Given the description of an element on the screen output the (x, y) to click on. 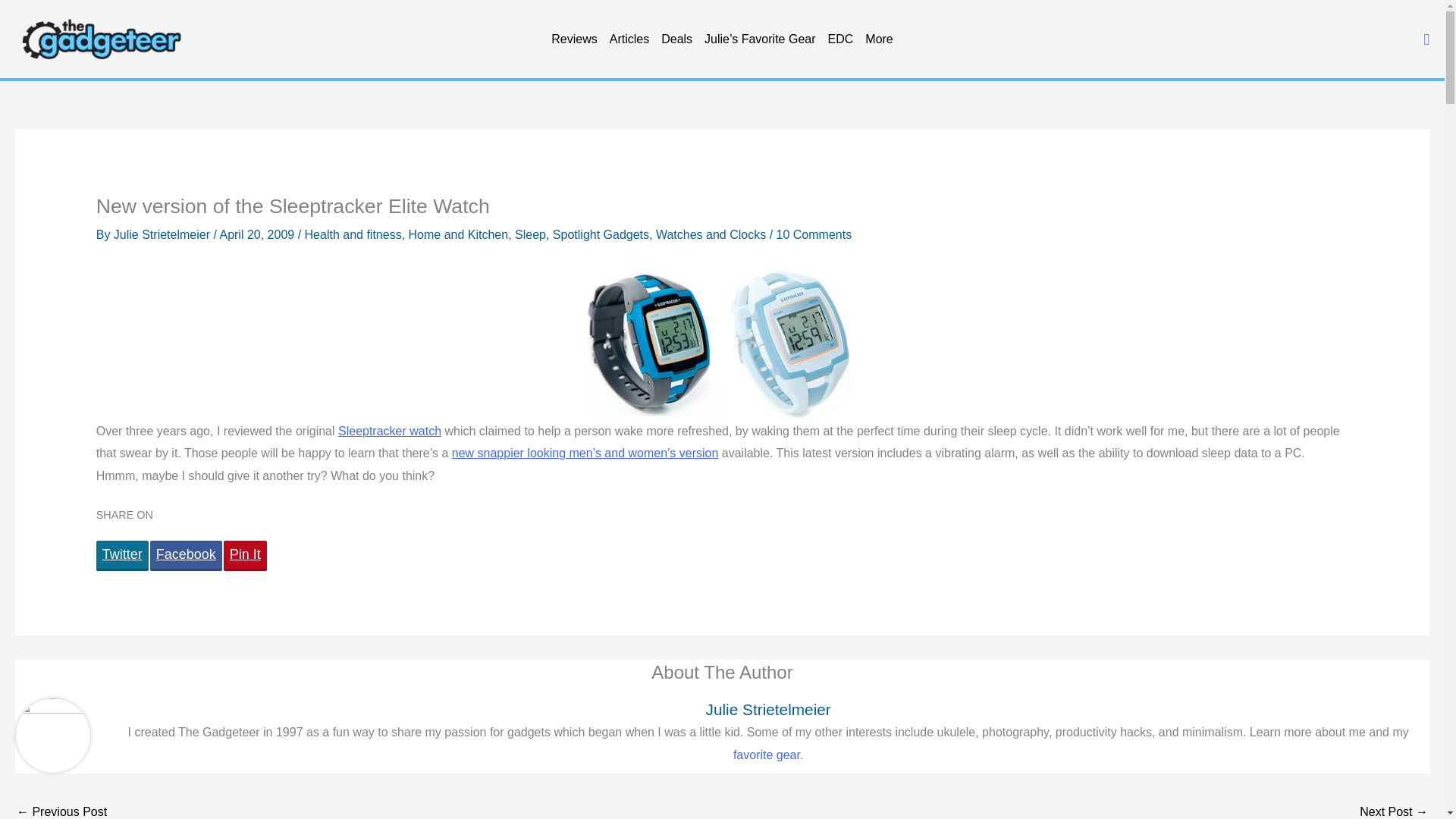
EDC (841, 39)
View all posts by Julie Strietelmeier (163, 234)
Deals (676, 39)
Ecofriendly Reusable Swiffer Mop Pads (61, 809)
Reviews (573, 39)
Articles (629, 39)
Skooba Design Checkthrough Messenger Bag Review (1393, 809)
More (878, 39)
sleeptracker (721, 344)
